Given the description of an element on the screen output the (x, y) to click on. 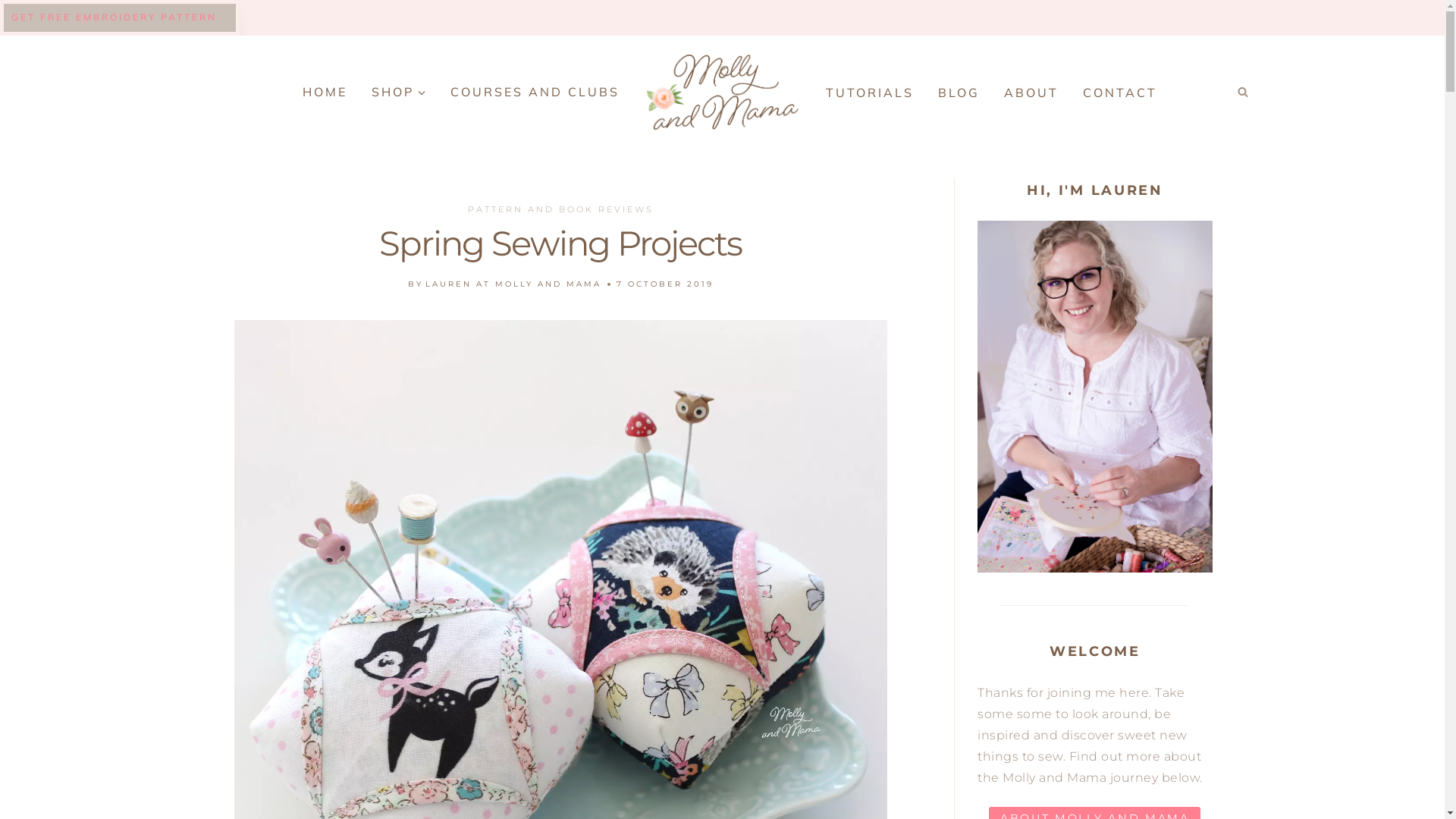
COURSES AND CLUBS Element type: text (534, 91)
PATTERN AND BOOK REVIEWS Element type: text (560, 208)
SHOP Element type: text (398, 91)
LAUREN AT MOLLY AND MAMA Element type: text (513, 283)
BLOG Element type: text (958, 91)
ABOUT Element type: text (1030, 91)
HOME Element type: text (323, 91)
CONTACT Element type: text (1119, 91)
TUTORIALS Element type: text (868, 91)
